Given the description of an element on the screen output the (x, y) to click on. 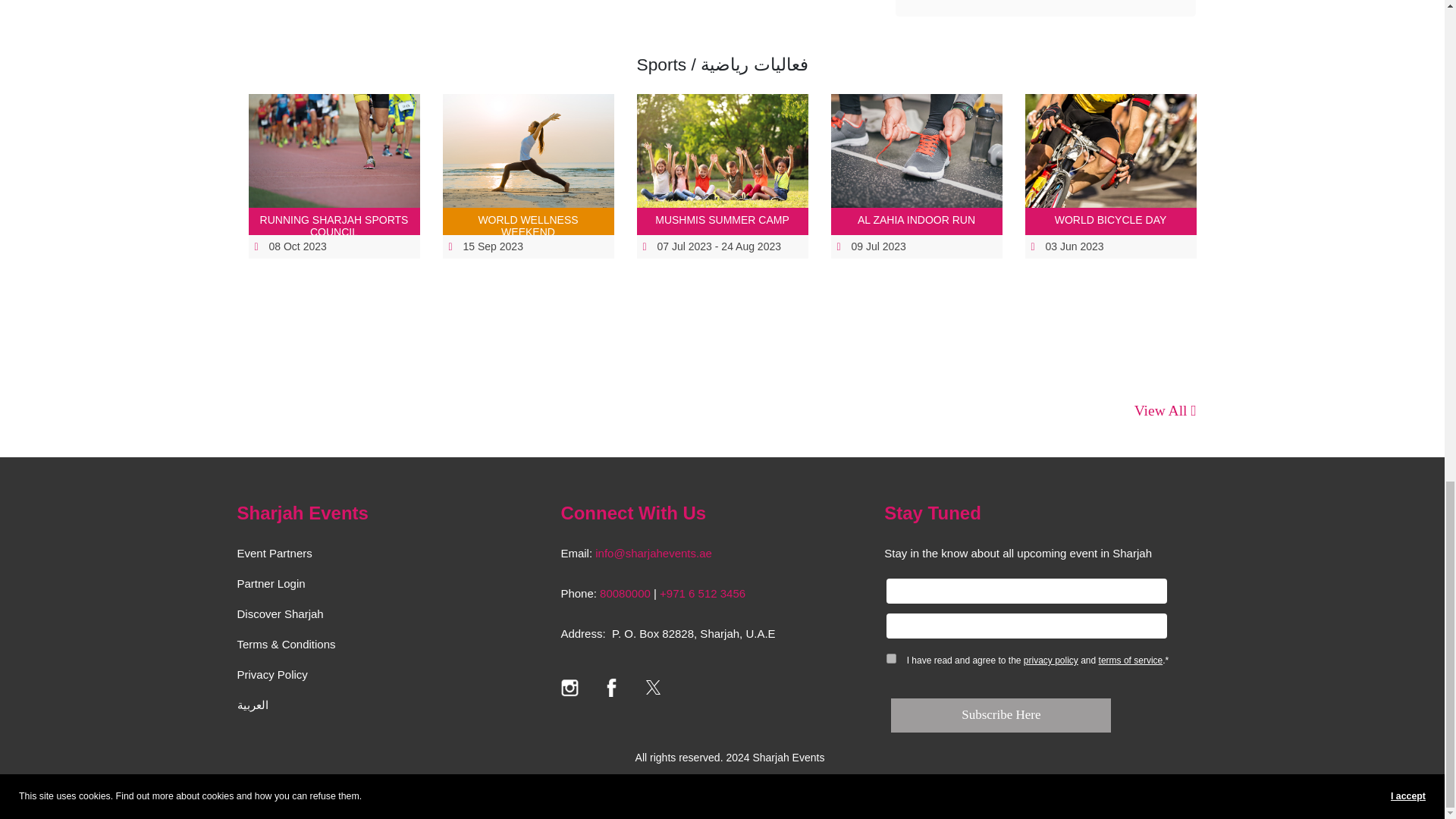
Subscribe Here (1000, 715)
1 (891, 658)
